Given the description of an element on the screen output the (x, y) to click on. 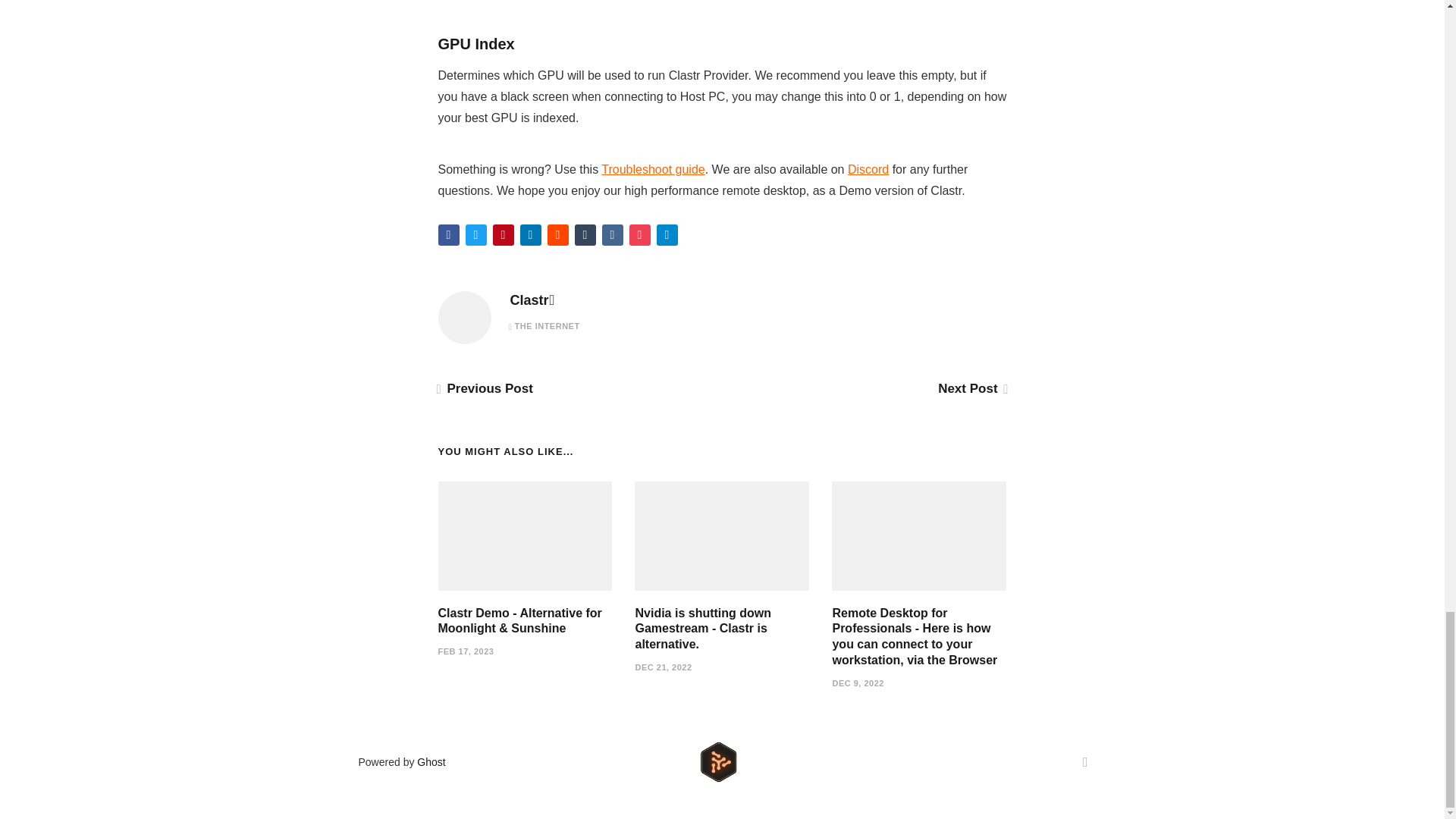
Next Post (971, 388)
Discord (867, 169)
Previous Post (485, 388)
Troubleshoot guide (652, 169)
Nvidia is shutting down Gamestream - Clastr is alternative. (702, 628)
